Given the description of an element on the screen output the (x, y) to click on. 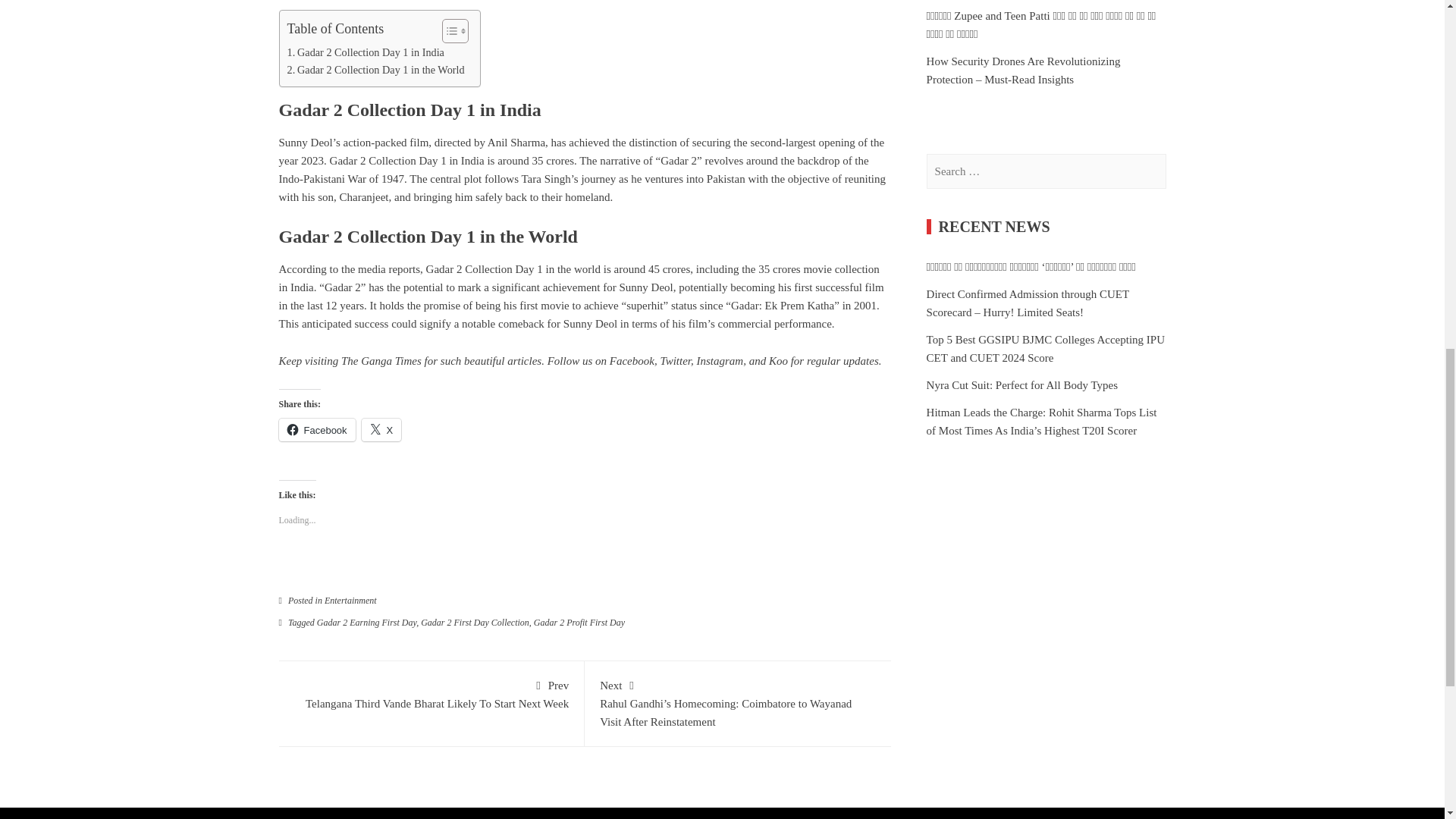
Instagram (718, 360)
Koo (777, 360)
Facebook (631, 360)
Gadar 2 Collection Day 1 in the World (375, 69)
X (381, 429)
Gadar 2 Collection Day 1 in India (365, 52)
Entertainment (350, 600)
Gadar 2 Profit First Day (579, 622)
Twitter (431, 693)
